Given the description of an element on the screen output the (x, y) to click on. 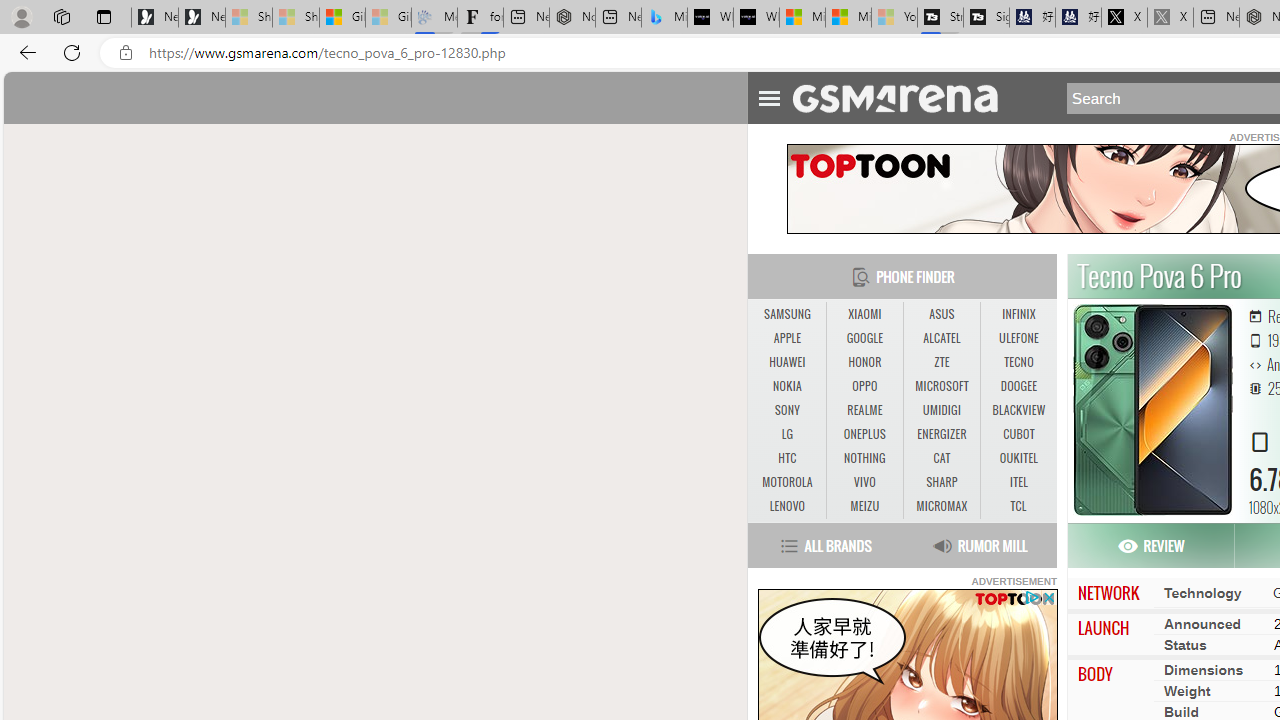
Microsoft Bing Travel - Shangri-La Hotel Bangkok (664, 17)
OUKITEL (1018, 457)
CUBOT (1018, 434)
TCL (1018, 506)
Microsoft Start (848, 17)
NOKIA (786, 386)
HONOR (863, 362)
Weight (1186, 690)
SAMSUNG (786, 314)
CAT (941, 457)
BLACKVIEW (1018, 410)
DOOGEE (1018, 385)
VIVO (864, 483)
